Given the description of an element on the screen output the (x, y) to click on. 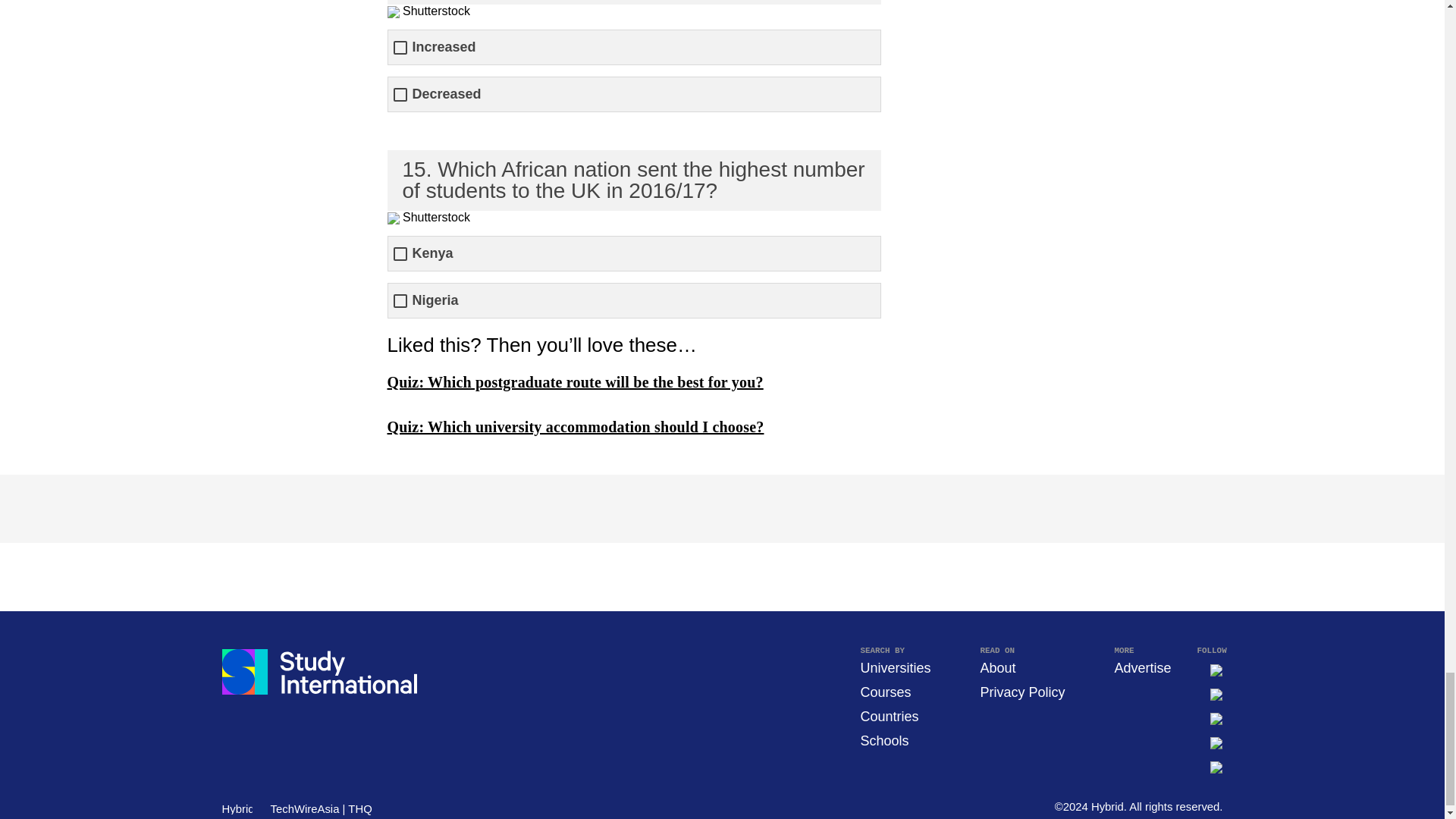
Courses (885, 692)
Quiz: Which university accommodation should I choose? (574, 426)
Quiz: Which postgraduate route will be the best for you? (574, 381)
Universities (895, 667)
